Given the description of an element on the screen output the (x, y) to click on. 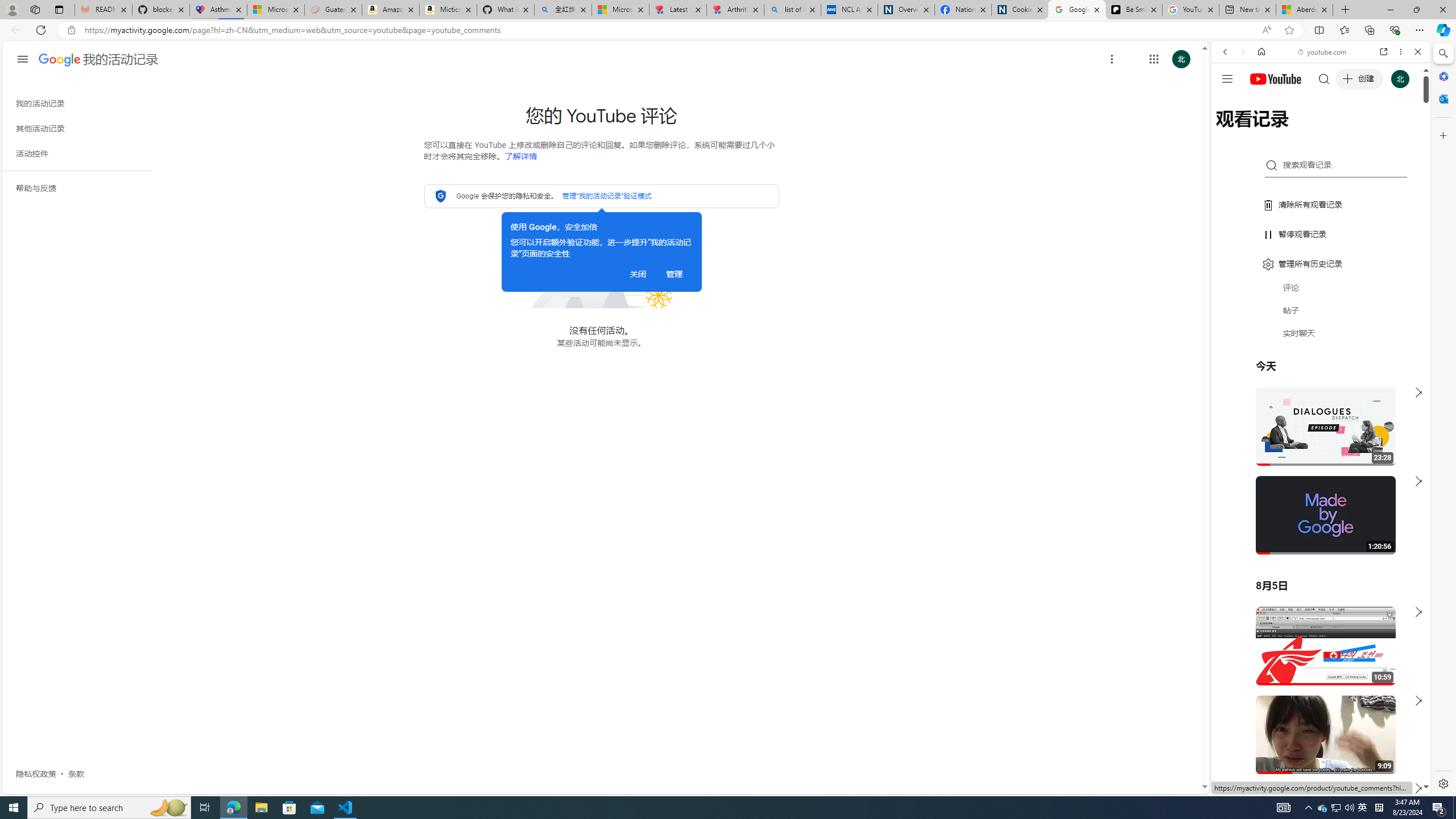
Class: gb_E (1153, 59)
Be Smart | creating Science videos | Patreon (1133, 9)
Click to scroll right (1407, 456)
Google (1320, 281)
Trailer #2 [HD] (1320, 337)
